Given the description of an element on the screen output the (x, y) to click on. 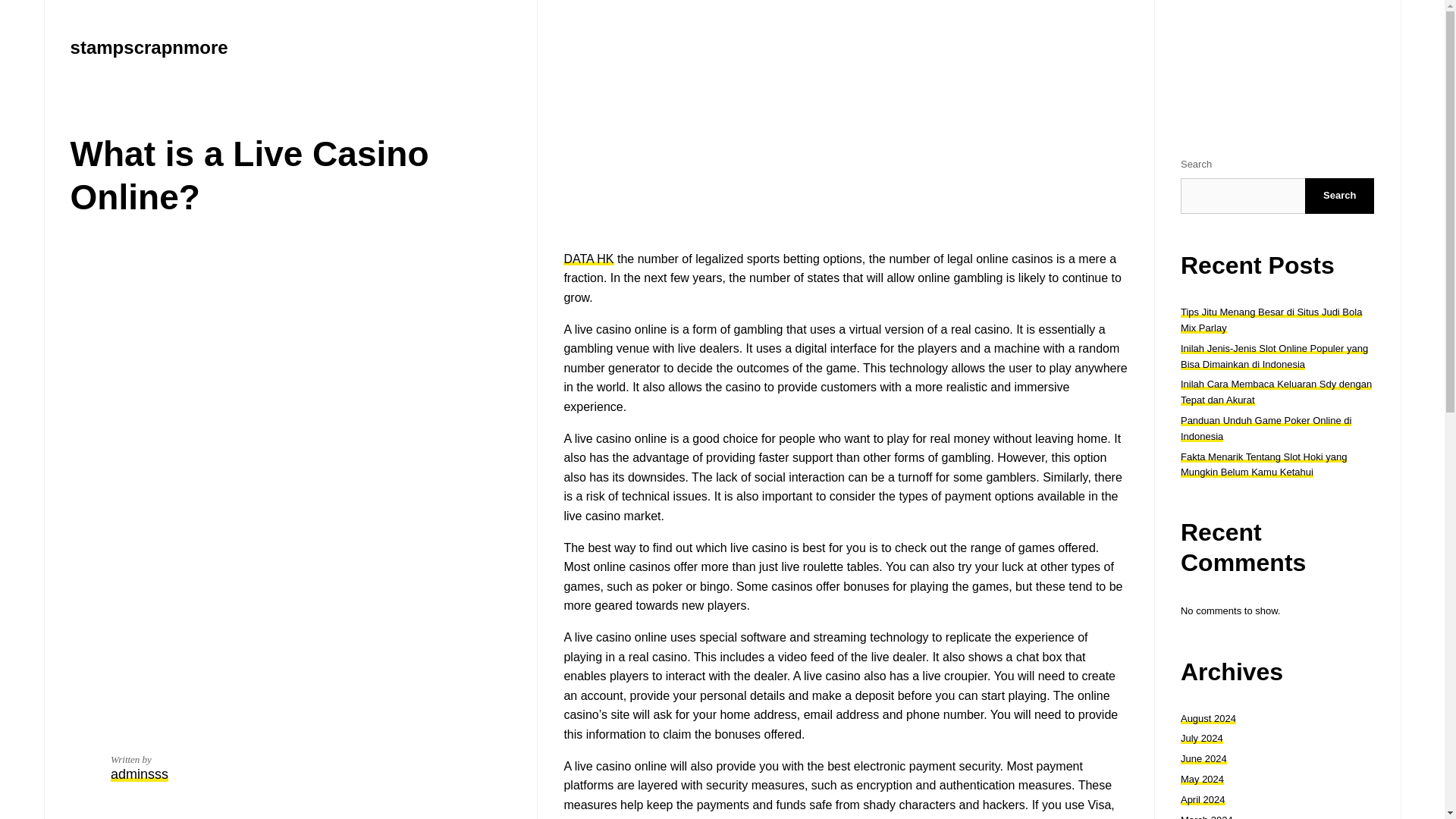
May 2024 (1202, 778)
March 2024 (1206, 816)
April 2024 (1202, 799)
August 2024 (1208, 717)
June 2024 (1203, 758)
Panduan Unduh Game Poker Online di Indonesia (1265, 428)
stampscrapnmore (148, 47)
adminsss (139, 773)
DATA HK (587, 258)
